Given the description of an element on the screen output the (x, y) to click on. 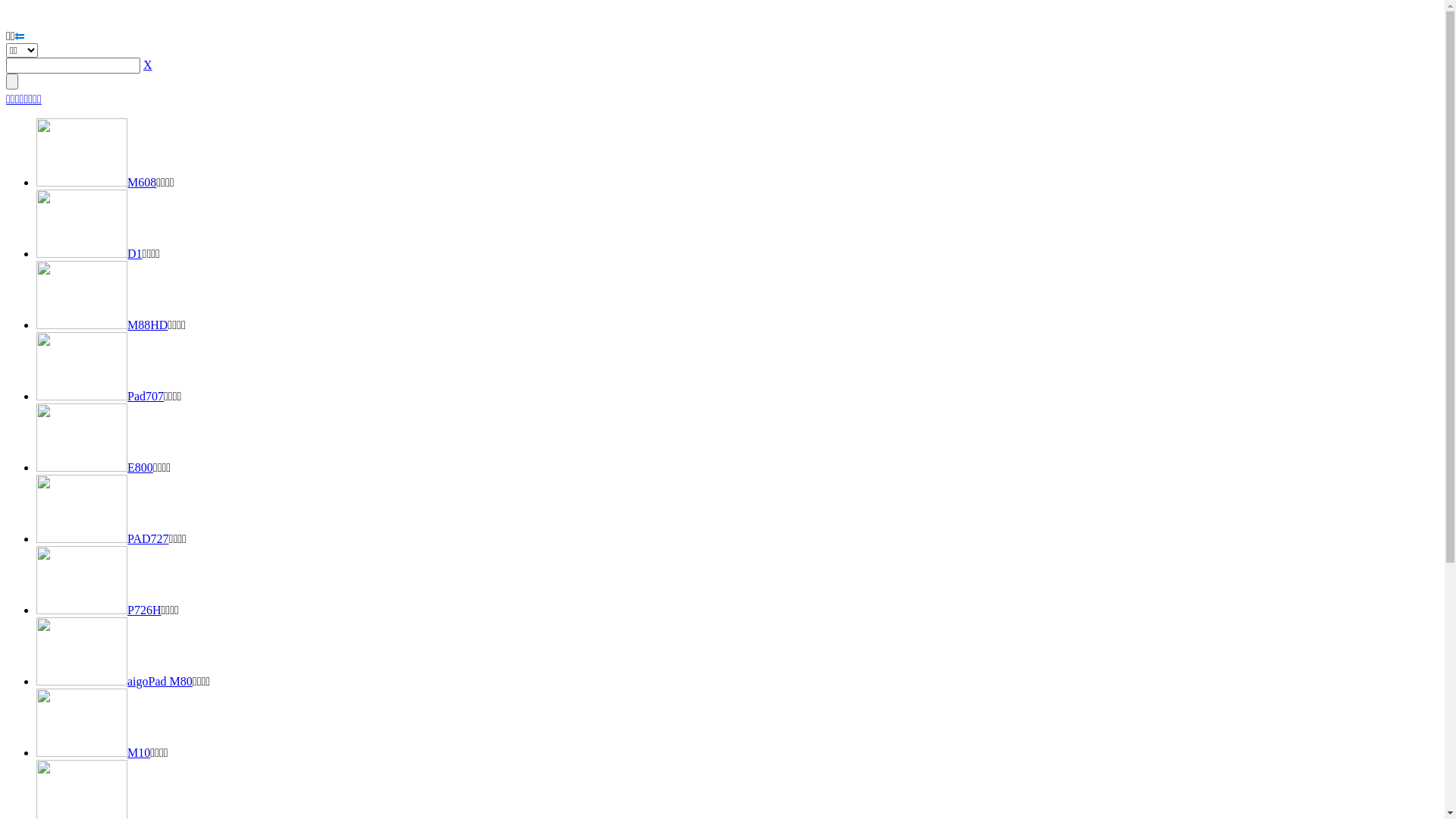
M10 Element type: text (93, 752)
E800 Element type: text (94, 467)
PAD727 Element type: text (102, 538)
Pad707 Element type: text (99, 395)
M608 Element type: text (96, 181)
M88HD Element type: text (101, 324)
X Element type: text (147, 64)
P726H Element type: text (98, 609)
D1 Element type: text (89, 253)
aigoPad M80 Element type: text (114, 680)
